Given the description of an element on the screen output the (x, y) to click on. 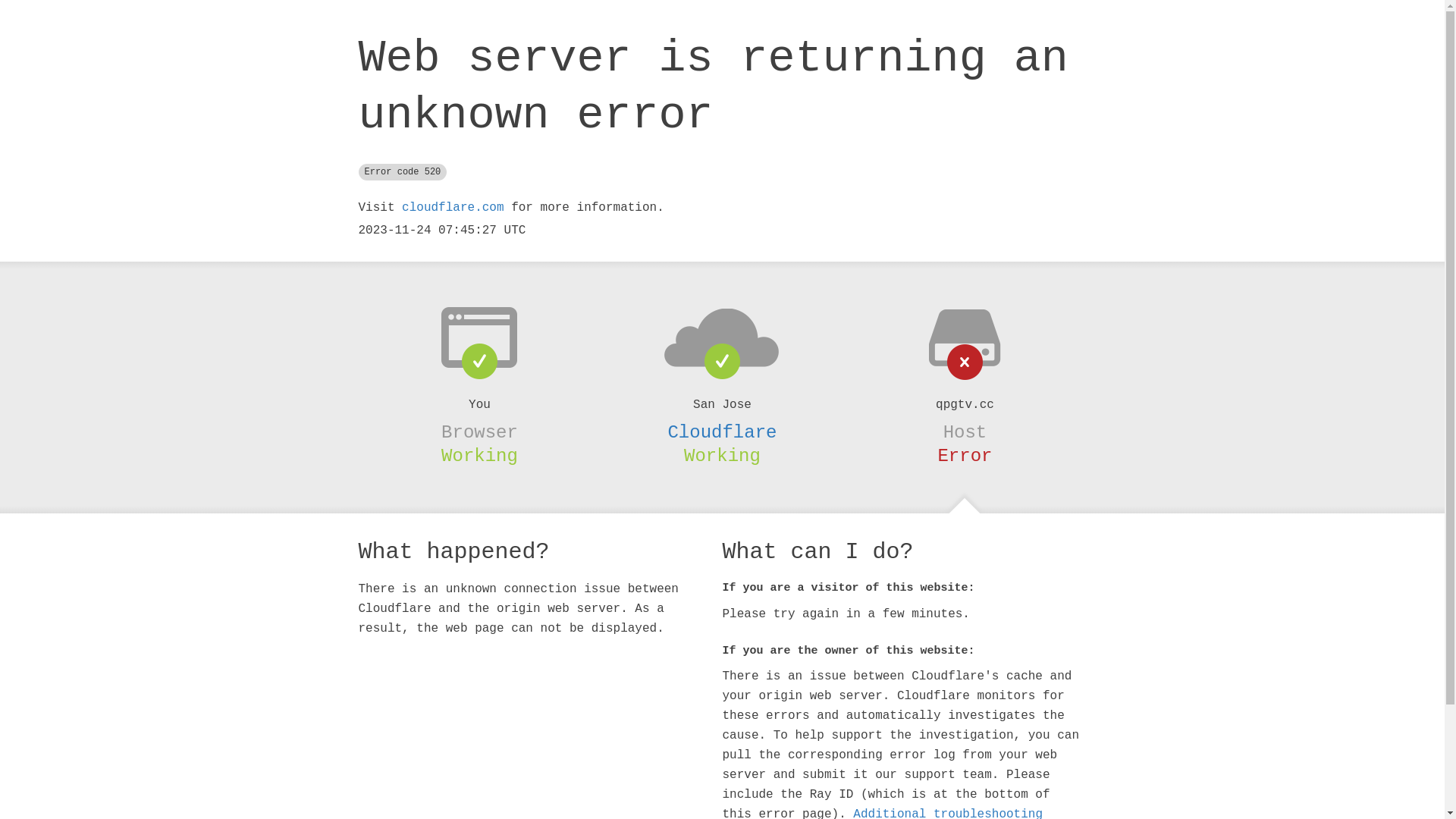
Cloudflare Element type: text (721, 432)
cloudflare.com Element type: text (452, 207)
